Given the description of an element on the screen output the (x, y) to click on. 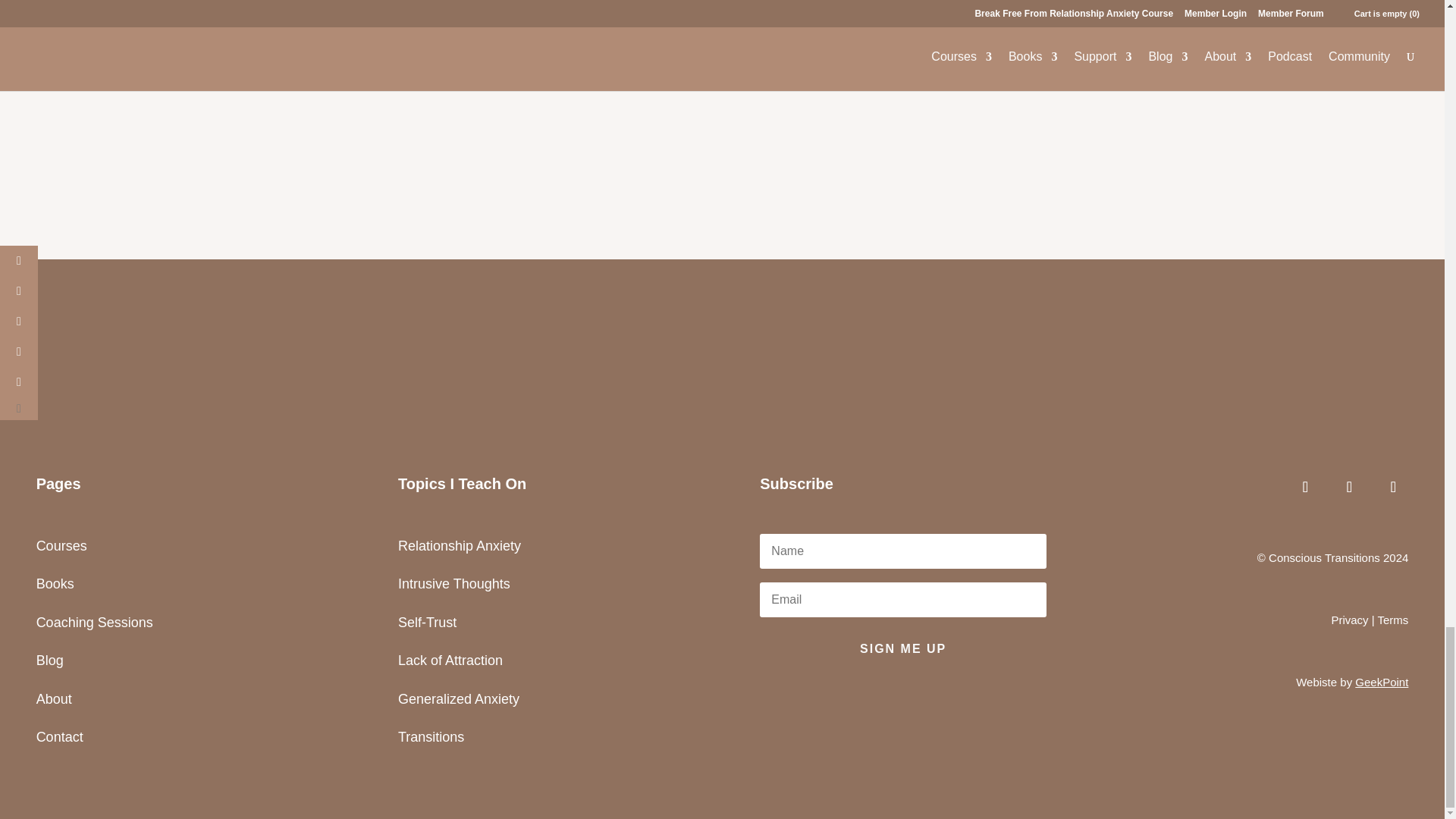
Lack of Attraction (449, 660)
Contact (59, 736)
Transitions (430, 736)
Books (55, 583)
Generalized Anxiety (458, 698)
About (53, 698)
Courses (61, 545)
Relationship Anxiety (459, 545)
Follow on Facebook (1308, 486)
Coaching Sessions (94, 622)
